Given the description of an element on the screen output the (x, y) to click on. 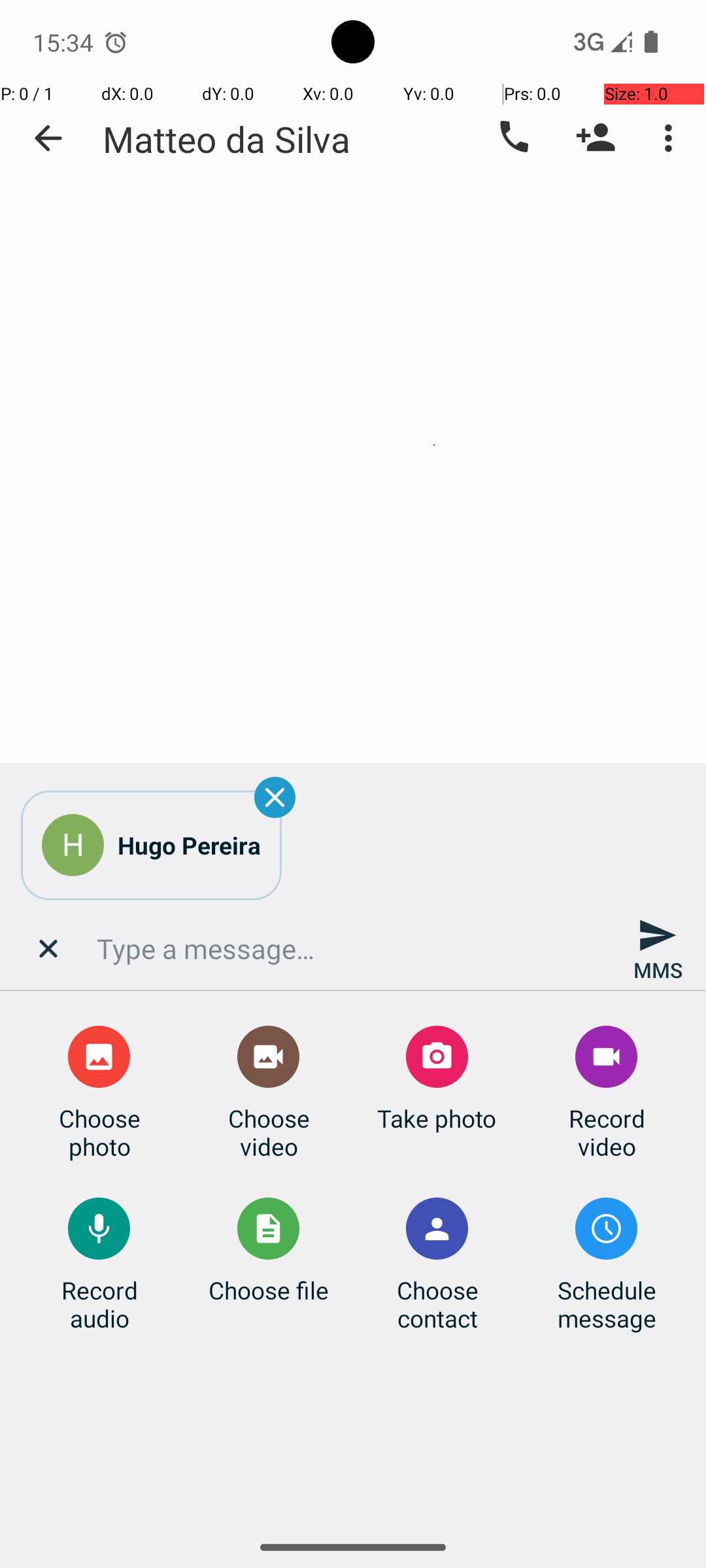
Matteo da Silva Element type: android.widget.TextView (226, 138)
MMS Element type: android.widget.Button (657, 948)
Hugo Pereira Element type: android.widget.TextView (188, 844)
